Given the description of an element on the screen output the (x, y) to click on. 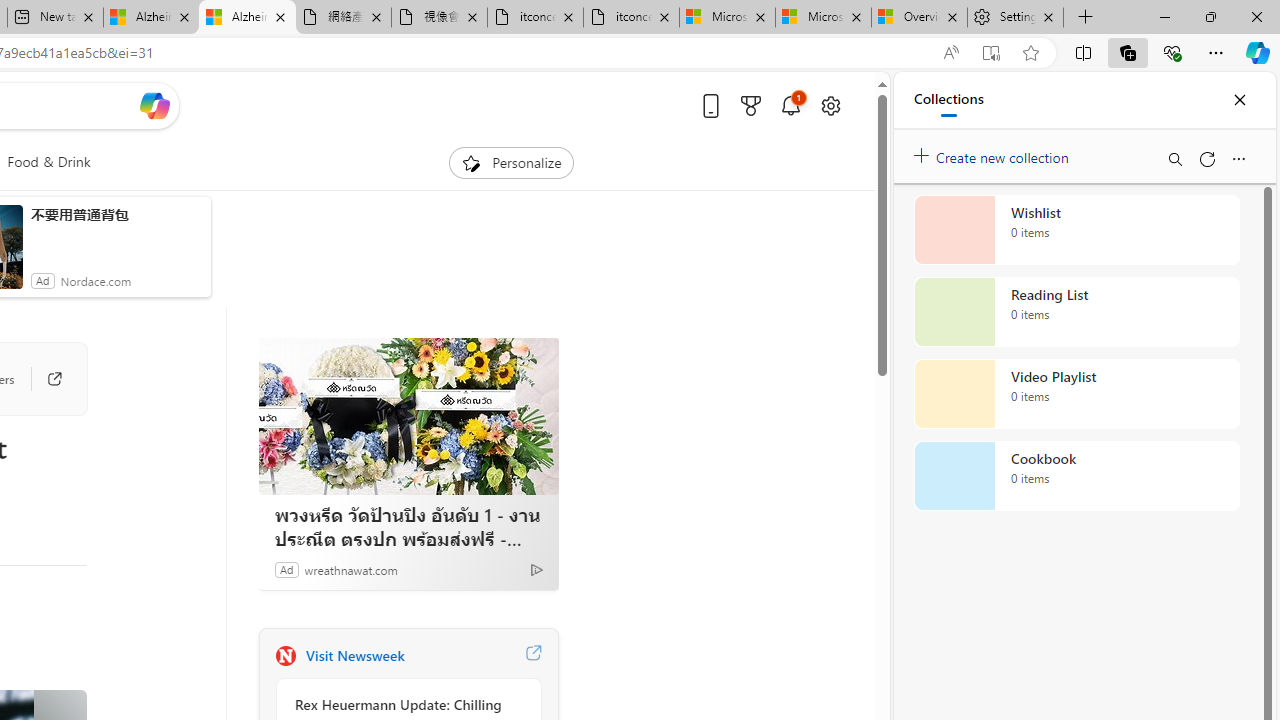
Nordace.com (95, 280)
Reading List collection, 0 items (1076, 312)
Cookbook collection, 0 items (1076, 475)
Newsweek (285, 655)
Video Playlist collection, 0 items (1076, 394)
Wishlist collection, 0 items (1076, 229)
